Given the description of an element on the screen output the (x, y) to click on. 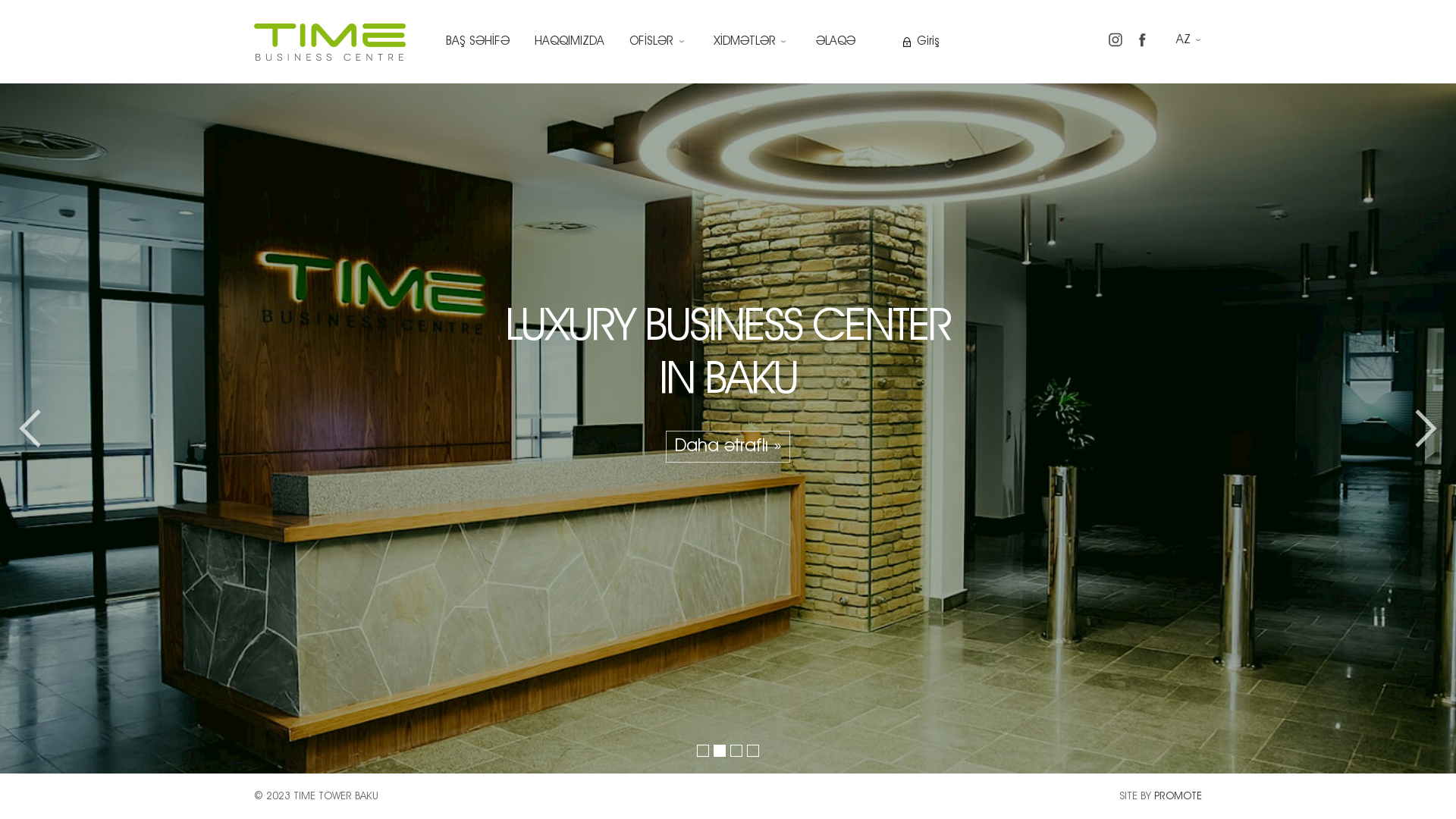
Next Element type: text (1418, 428)
1 Element type: text (702, 750)
AZ Element type: text (1188, 40)
4 Element type: text (752, 750)
Prev Element type: text (37, 428)
  Element type: text (329, 41)
2 Element type: text (719, 750)
HAQQIMIZDA Element type: text (569, 41)
3 Element type: text (736, 750)
PROMOTE Element type: text (1177, 795)
